Given the description of an element on the screen output the (x, y) to click on. 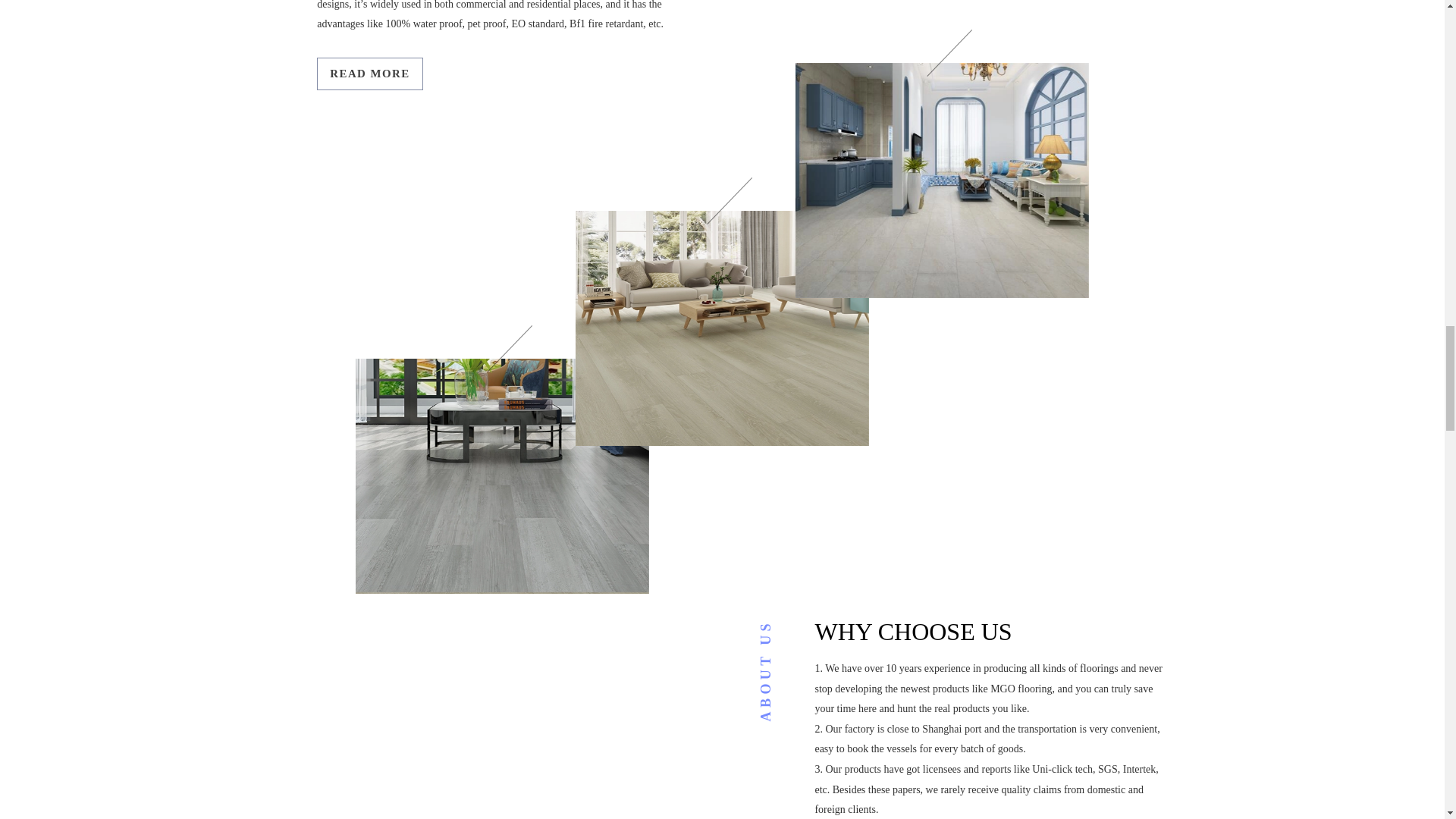
READ MORE (369, 73)
